Given the description of an element on the screen output the (x, y) to click on. 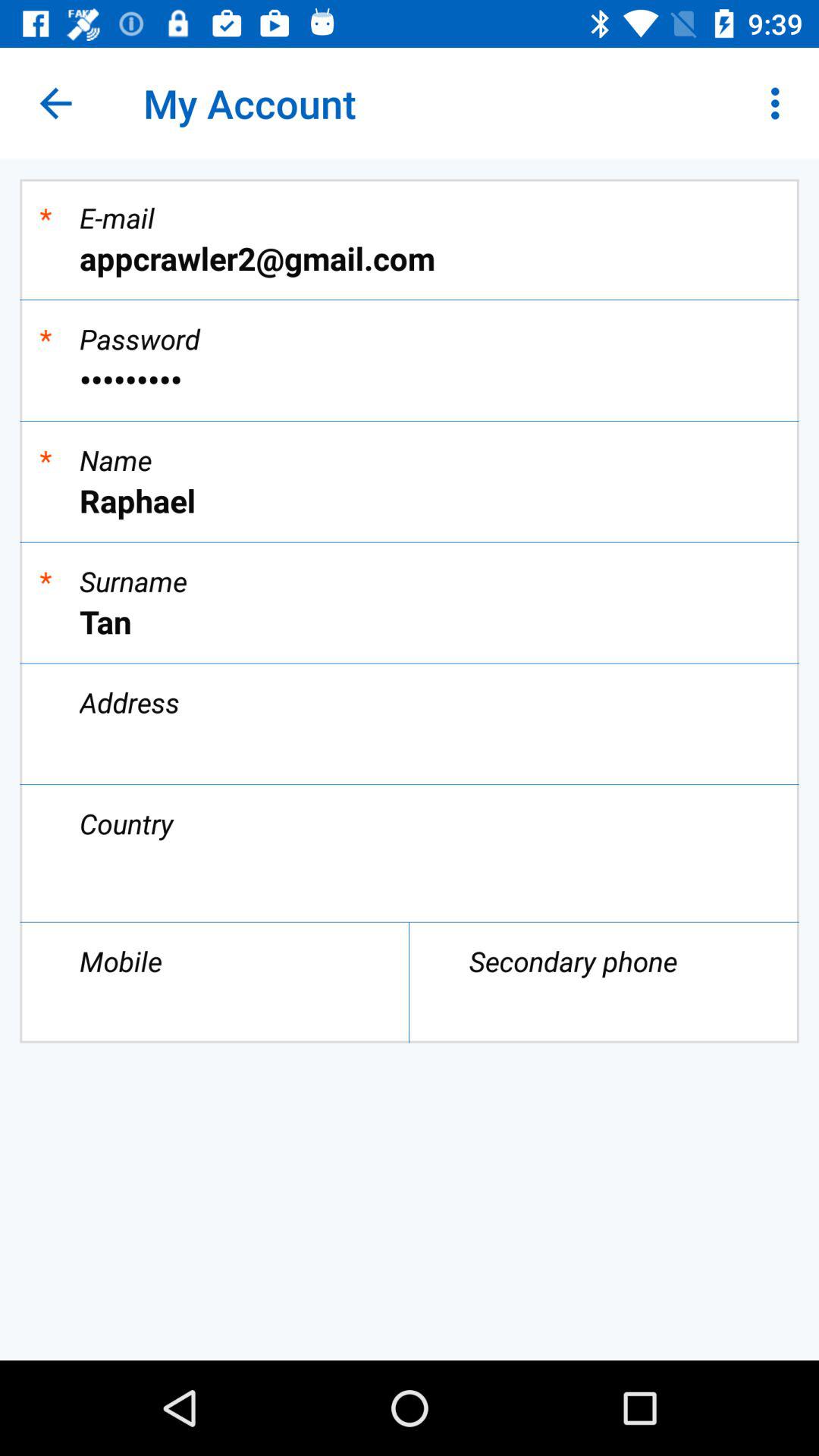
click icon below the * (409, 621)
